Given the description of an element on the screen output the (x, y) to click on. 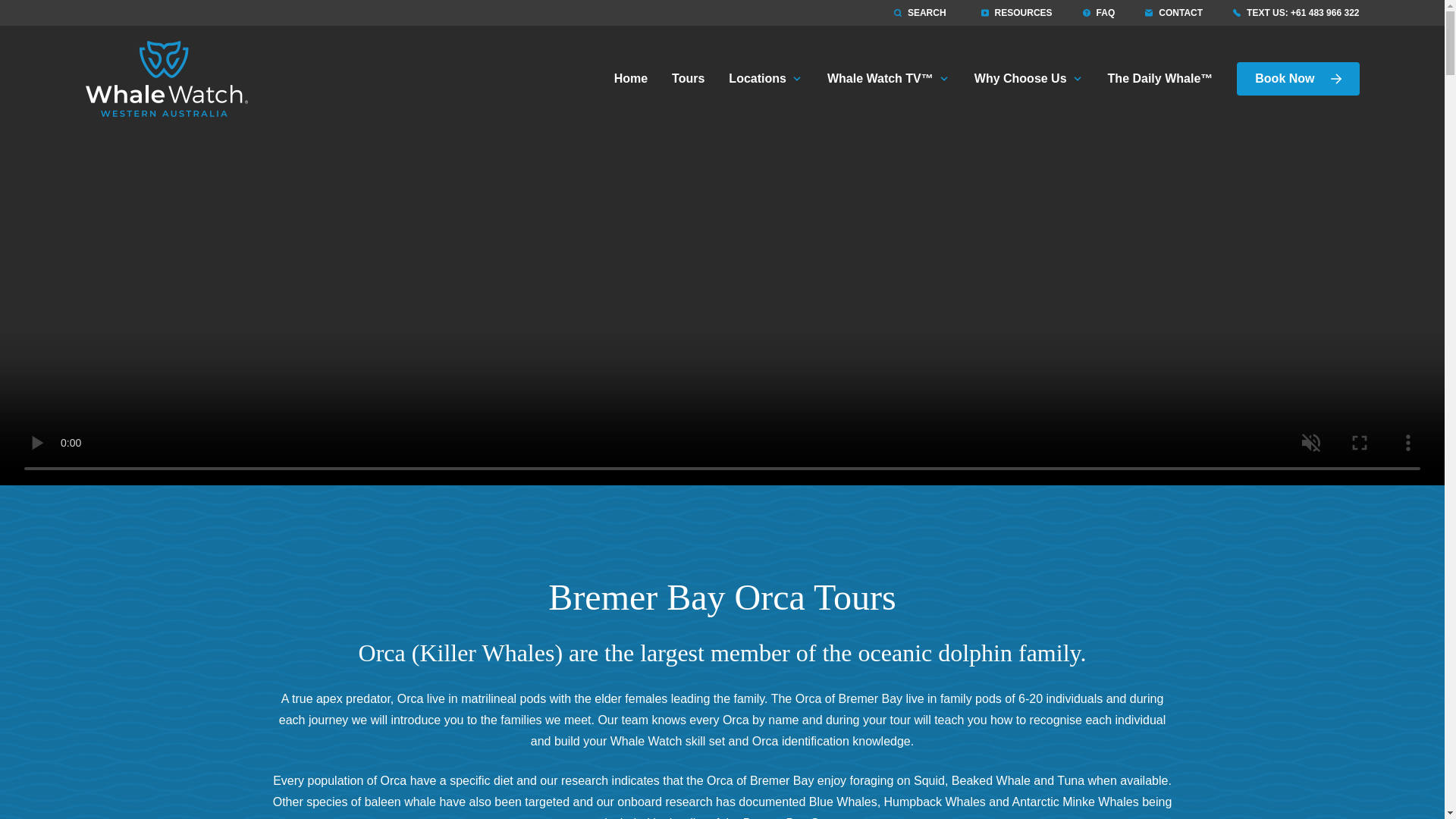
CONTACT (1173, 12)
Book Now (1297, 78)
SEARCH (919, 12)
Tours (687, 78)
Why Choose Us (1029, 78)
Home (630, 78)
RESOURCES (1016, 12)
Locations (765, 78)
FAQ (1099, 12)
